Given the description of an element on the screen output the (x, y) to click on. 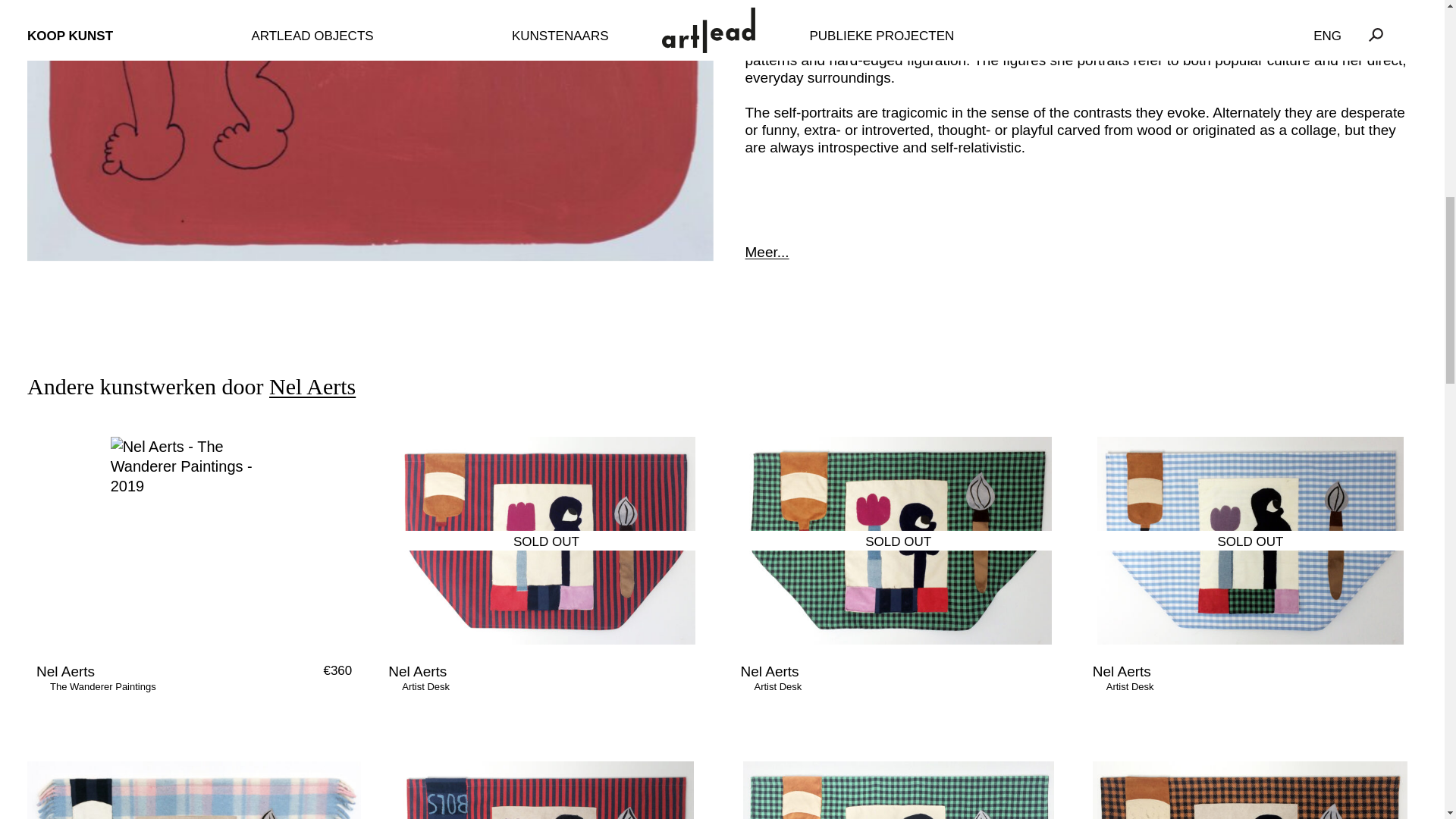
Nel Aerts (417, 671)
Nel Aerts (1122, 671)
Nel Aerts (768, 671)
Meer... (1080, 243)
Nel Aerts (312, 385)
Nel Aerts - Artist Desk - 2017 (1250, 540)
Nel Aerts - Artist Desk - 2017 (546, 790)
Nel Aerts (65, 671)
Nel Aerts - Artist Desk - 2017 (194, 790)
Nel Aerts - Artist Desk - 2017 (545, 540)
Nel Aerts - Artist Desk - 2017 (898, 540)
Nel Aerts - Artist Desk - 2017 (898, 790)
Nel Aerts - Artist Desk - 2017 (1250, 790)
